Given the description of an element on the screen output the (x, y) to click on. 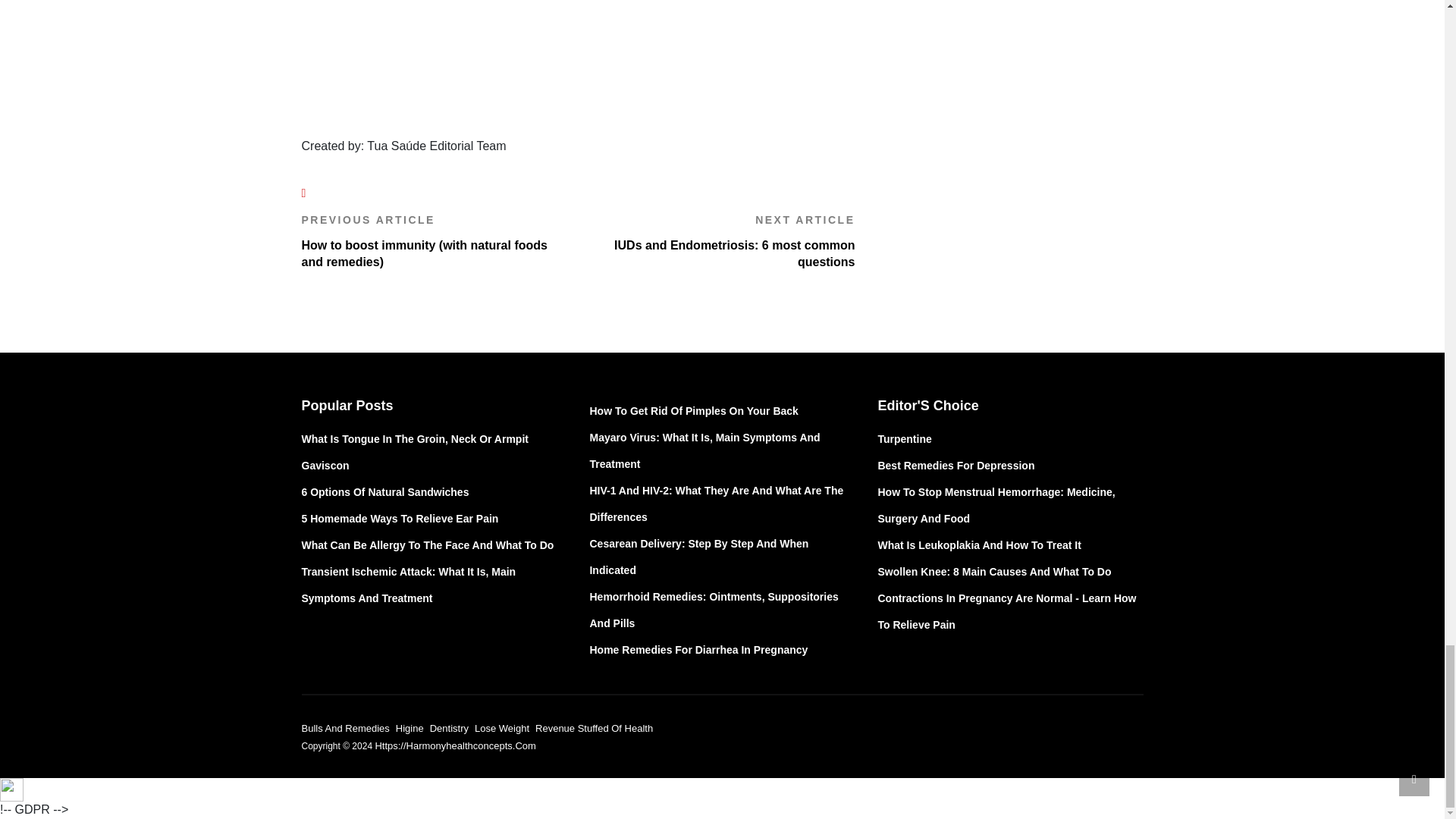
LiveInternet (11, 789)
